Given the description of an element on the screen output the (x, y) to click on. 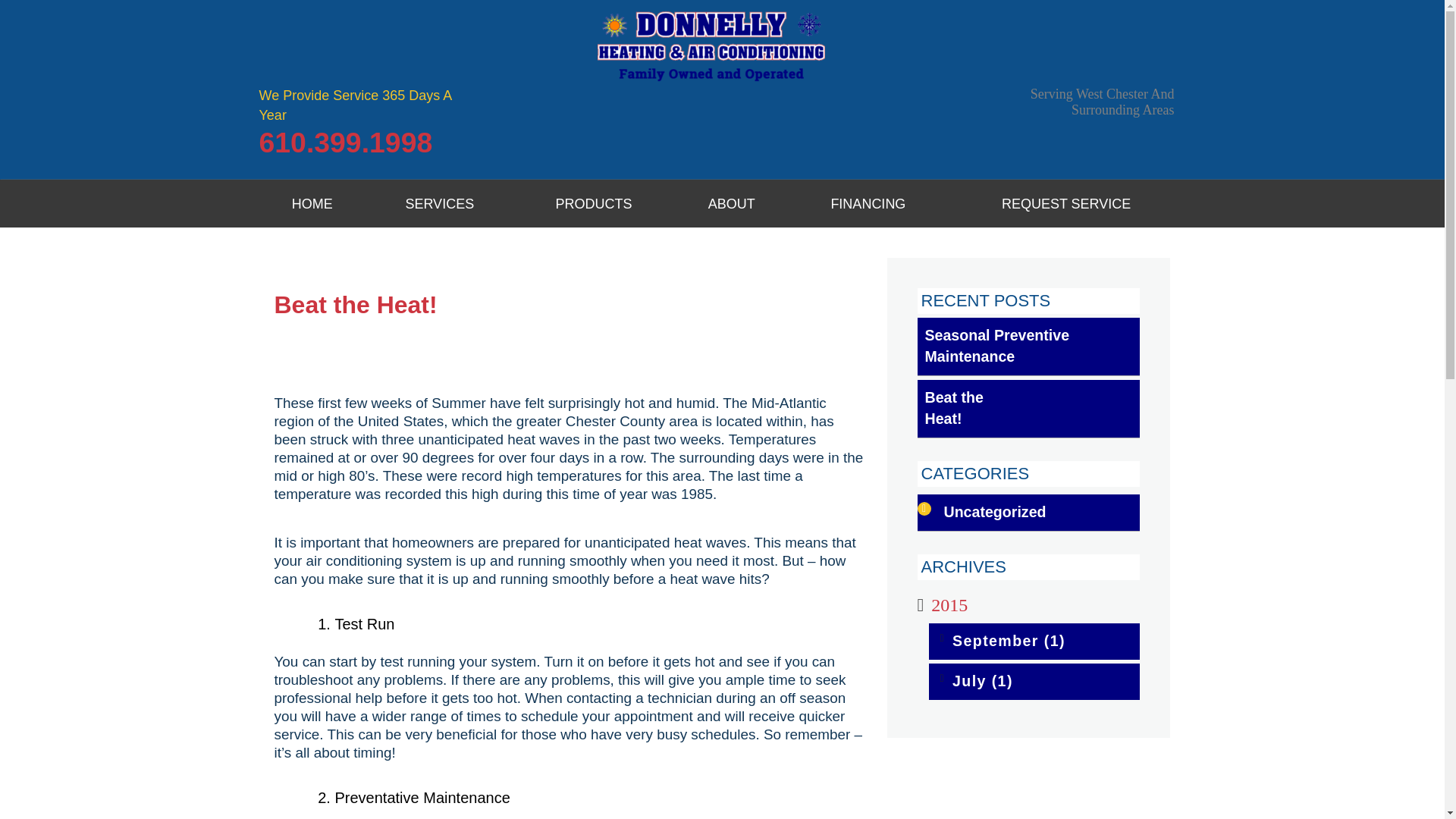
HOME (312, 203)
SERVICES (439, 203)
610.399.1998 (345, 146)
ABOUT (730, 203)
PRODUCTS (593, 203)
